Given the description of an element on the screen output the (x, y) to click on. 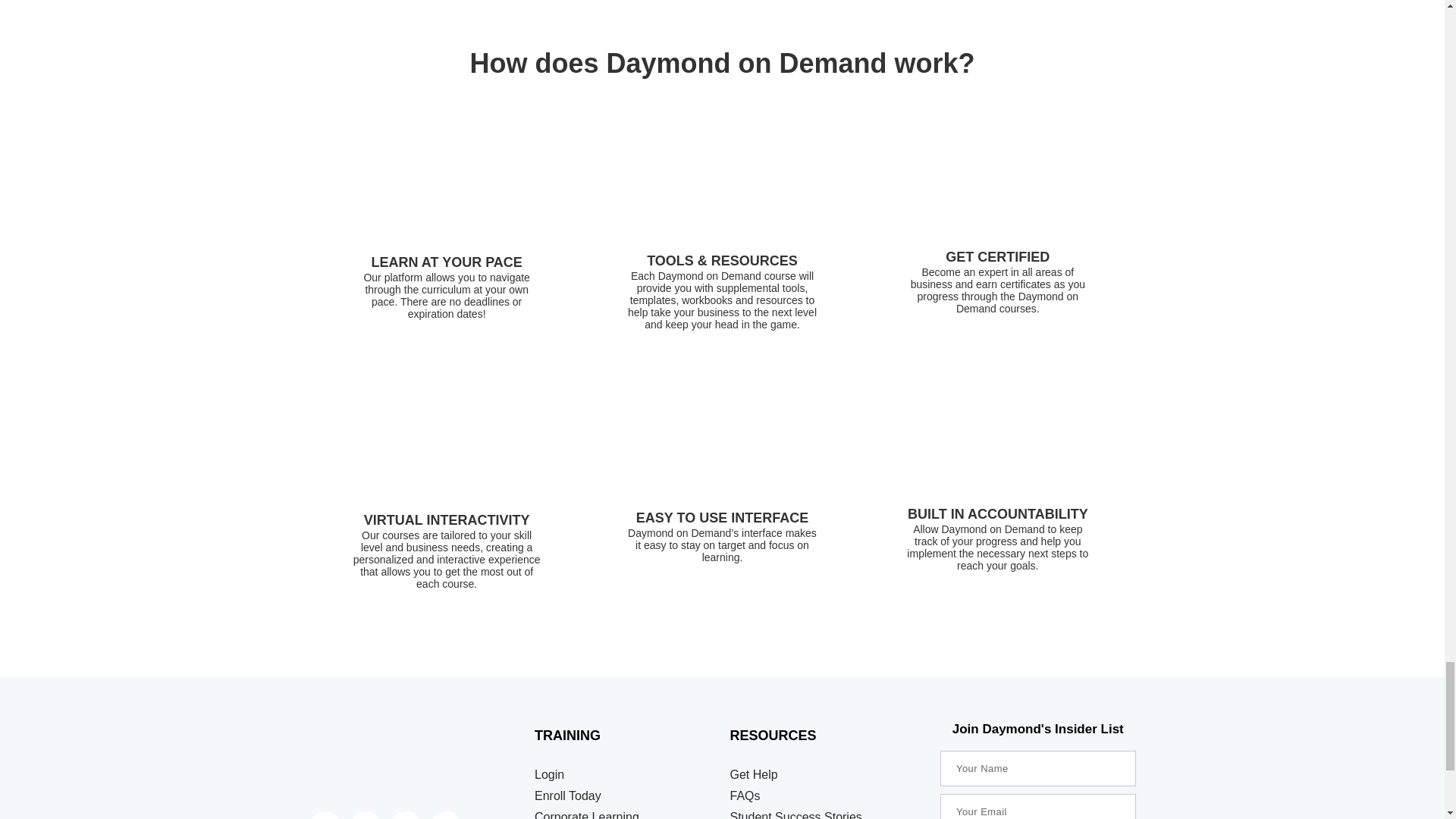
Student Success Stories (826, 814)
Get Help (826, 774)
Corporate Learning (624, 814)
Enroll Today (624, 796)
Login (624, 774)
FAQs (826, 796)
